Given the description of an element on the screen output the (x, y) to click on. 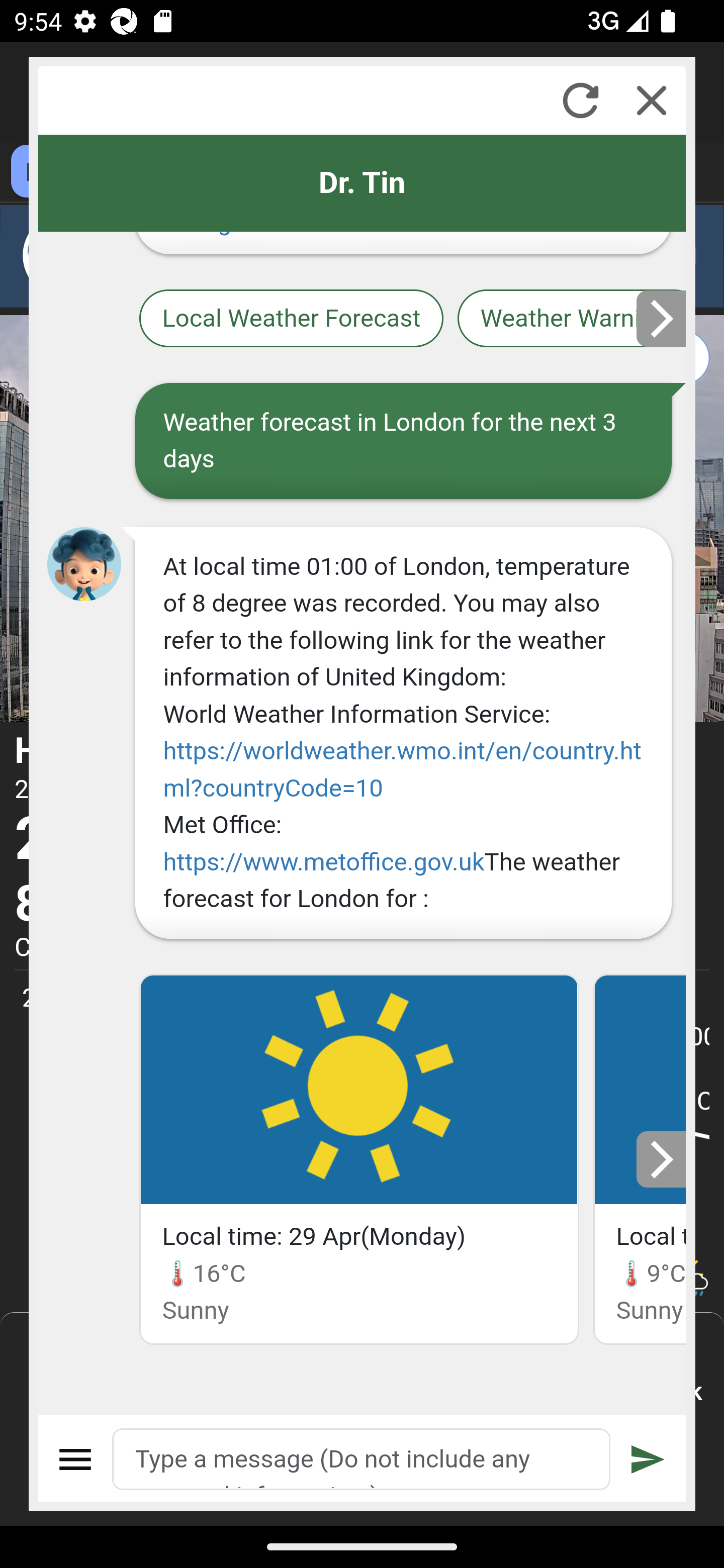
Refresh (580, 100)
Close (651, 100)
Local Weather Forecast (291, 319)
Weather Warnings (571, 319)
Next slide (661, 318)
https://www.metoffice.gov.uk (323, 861)
Next slide (661, 1159)
Menu (75, 1458)
Submit (648, 1458)
